Given the description of an element on the screen output the (x, y) to click on. 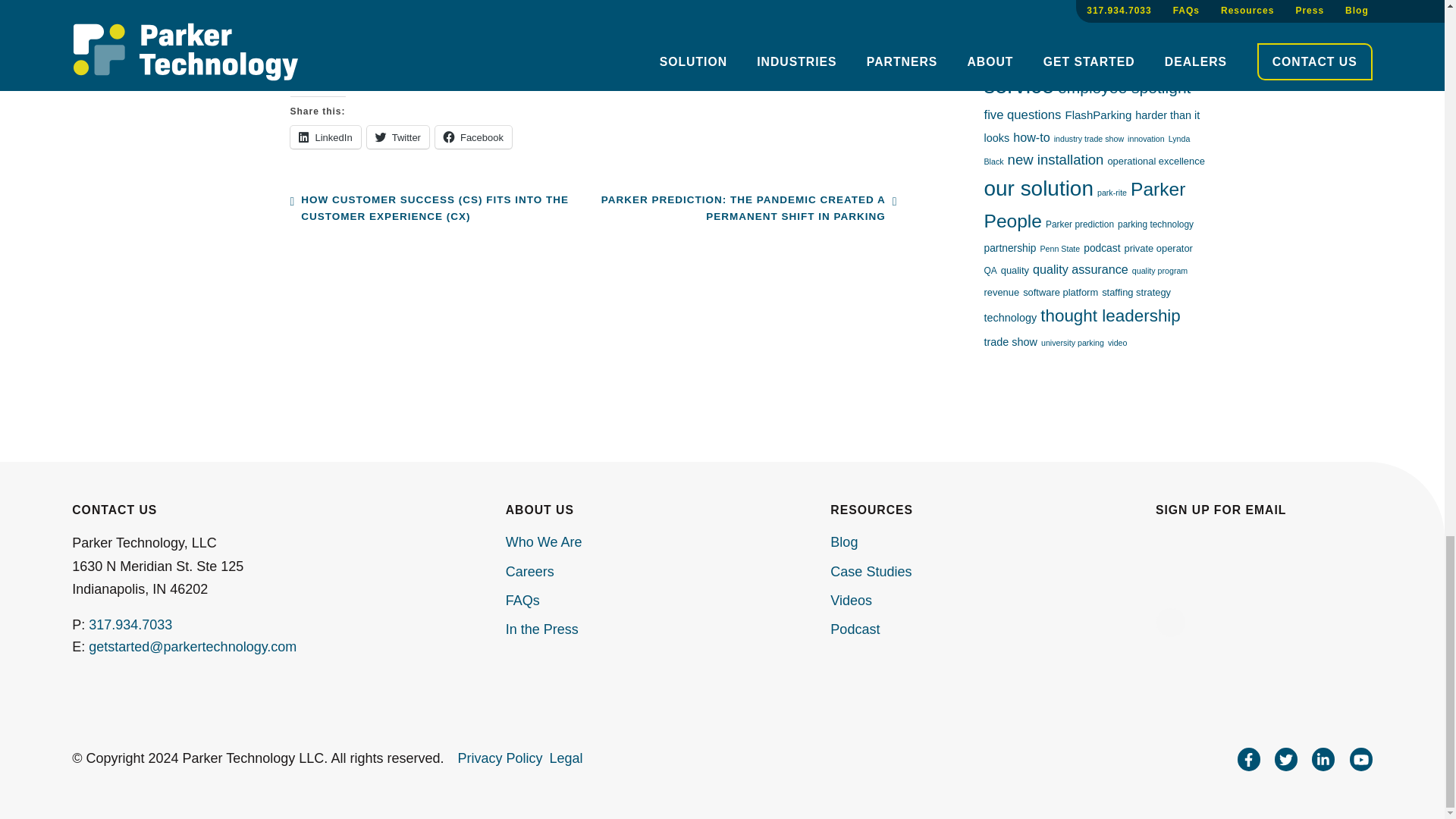
LinkedIn (324, 137)
Click to share on LinkedIn (324, 137)
Subscribe to our blog. (473, 70)
Click to share on Facebook (473, 137)
Click to share on Twitter (397, 137)
Facebook (473, 137)
Twitter (397, 137)
